Given the description of an element on the screen output the (x, y) to click on. 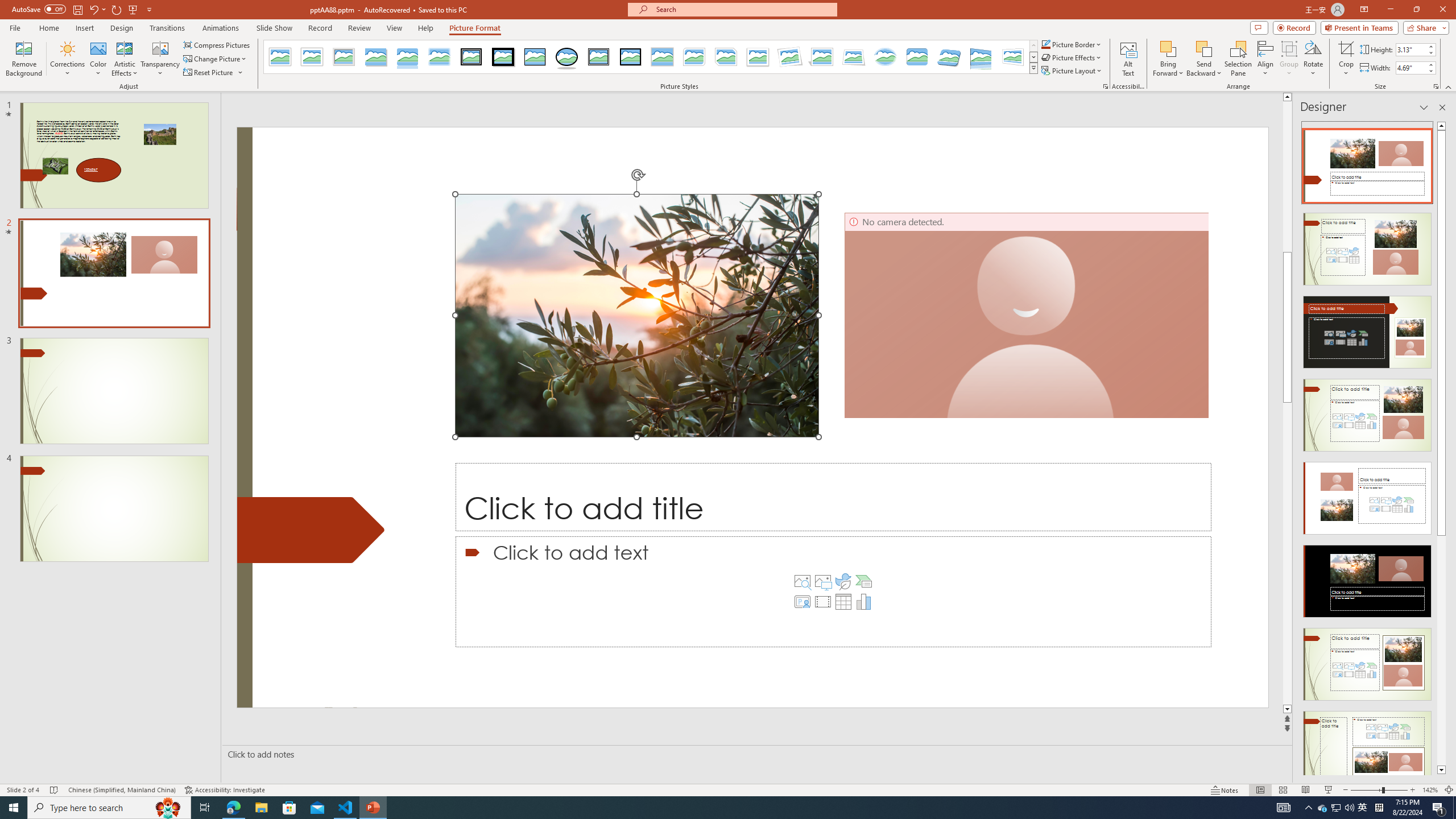
Perspective Shadow, White (821, 56)
Picture... (1104, 85)
Moderate Frame, White (758, 56)
Insert Chart (863, 601)
Picture Border Teal, Accent 1 (1045, 44)
Recommended Design: Design Idea (1366, 162)
Remove Background (23, 58)
Bevel Perspective Left, White (1013, 56)
